Given the description of an element on the screen output the (x, y) to click on. 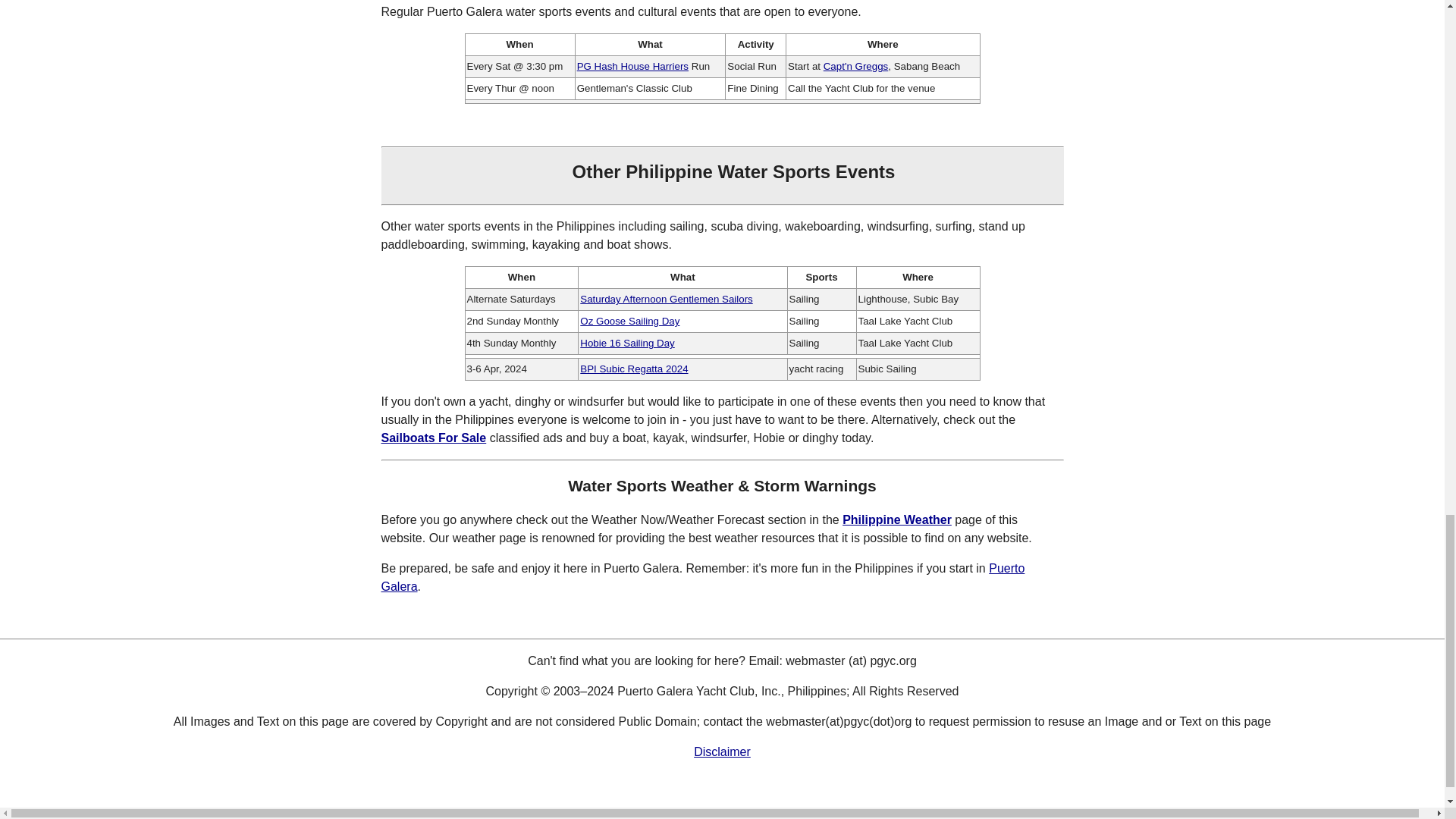
Read our Disclaimer (722, 751)
